Given the description of an element on the screen output the (x, y) to click on. 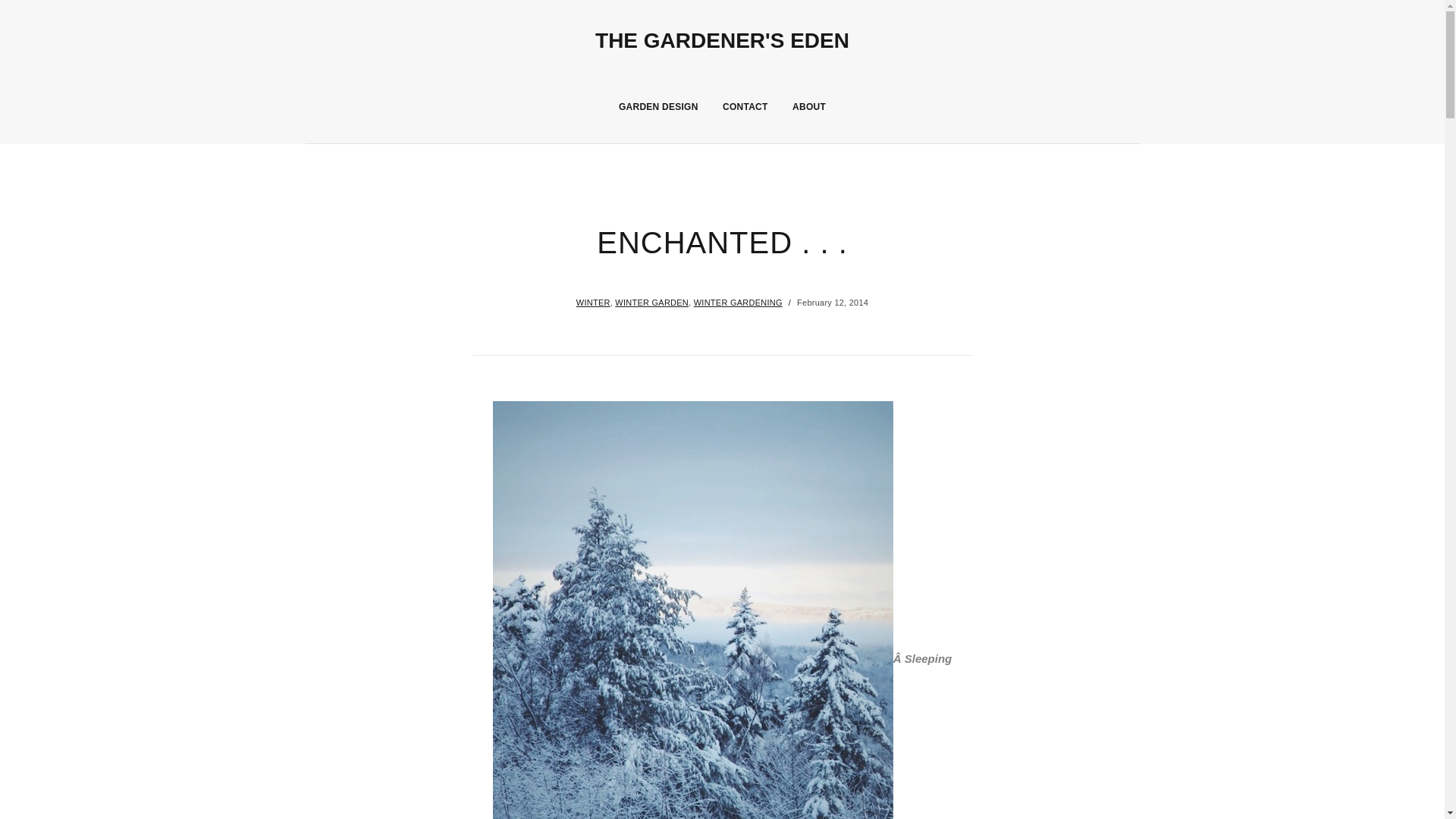
WINTER GARDEN (651, 302)
WINTER GARDENING (738, 302)
THE GARDENER'S EDEN (721, 40)
GARDEN DESIGN (658, 106)
WINTER (593, 302)
ABOUT (808, 106)
CONTACT (745, 106)
